Given the description of an element on the screen output the (x, y) to click on. 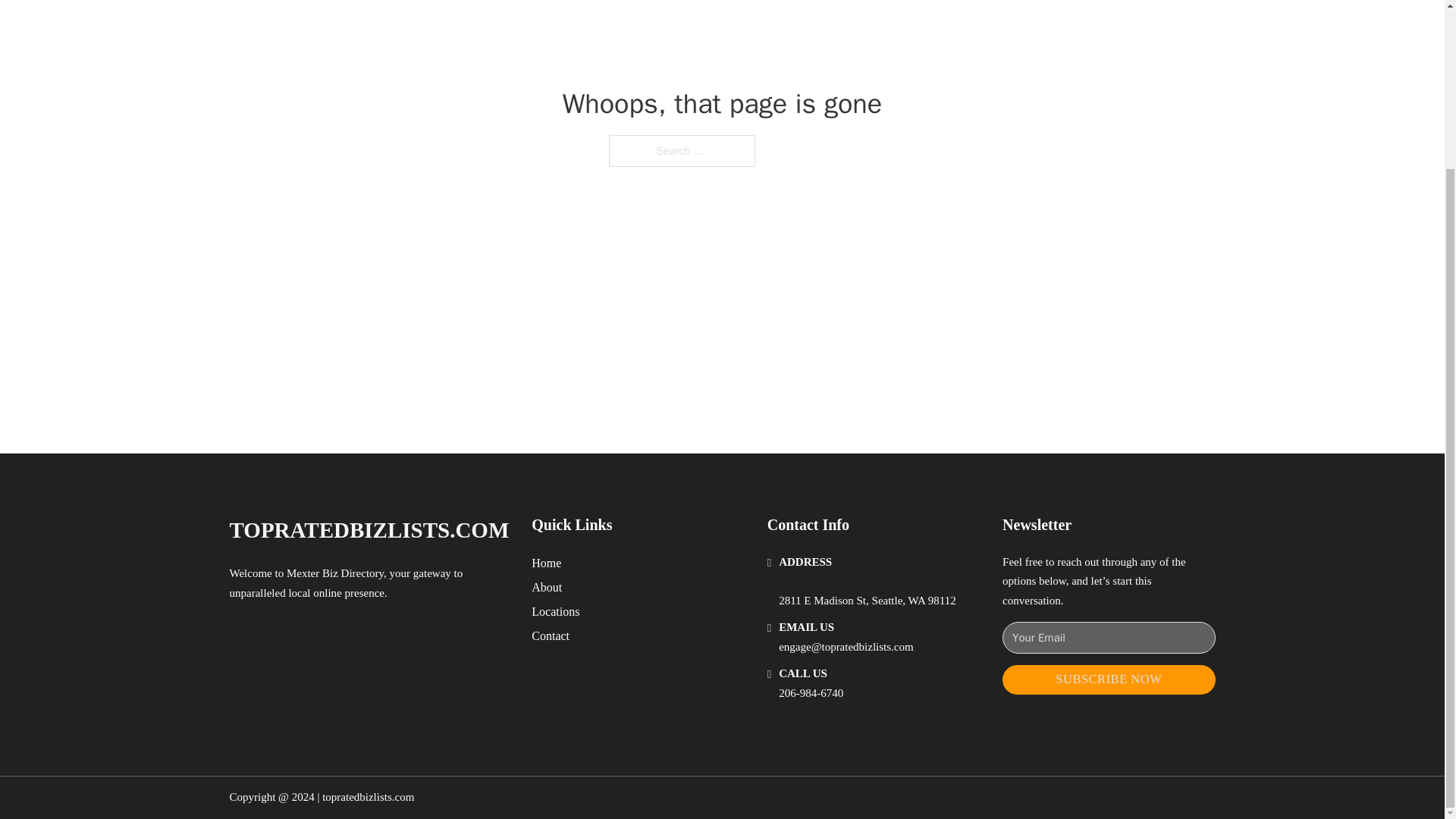
Locations (555, 611)
TOPRATEDBIZLISTS.COM (368, 529)
206-984-6740 (810, 693)
SUBSCRIBE NOW (1108, 679)
Contact (550, 635)
Home (545, 562)
About (546, 587)
